Given the description of an element on the screen output the (x, y) to click on. 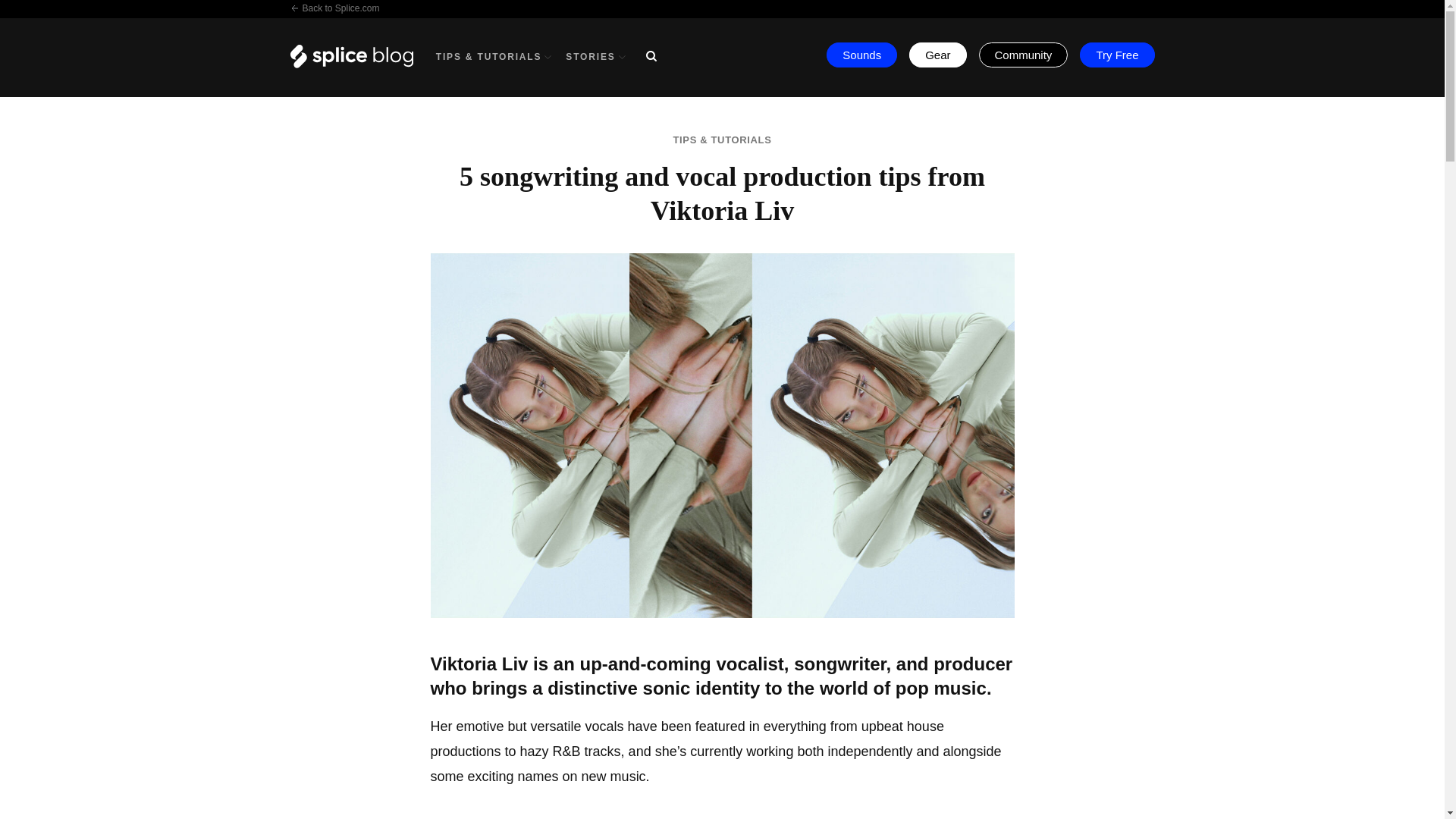
Back to Splice.com (333, 8)
.CLS-1SPLICE BLOG LOGO (350, 56)
.CLS-1SPLICE BLOG LOGO (362, 64)
STORIES (596, 56)
Try Free (1117, 54)
Sounds (861, 54)
Community (1023, 54)
Gear (937, 54)
